Given the description of an element on the screen output the (x, y) to click on. 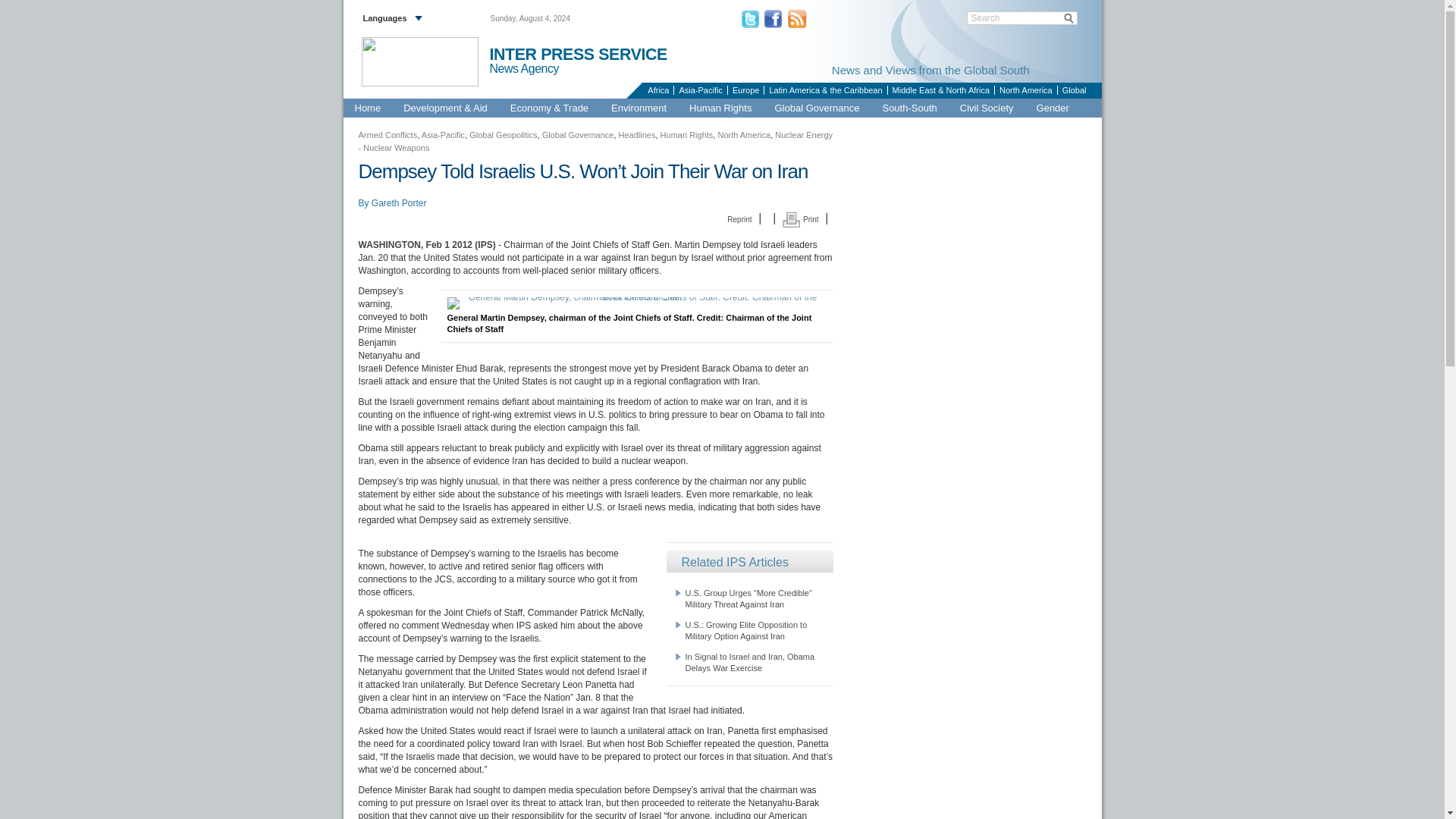
News Agency (531, 69)
Search (1022, 18)
Global (1073, 90)
INTER PRESS SERVICE (577, 54)
Europe (744, 90)
Posts by Gareth Porter (398, 203)
Asia-Pacific (699, 90)
Home (366, 107)
Africa (657, 90)
North America (1025, 90)
